Given the description of an element on the screen output the (x, y) to click on. 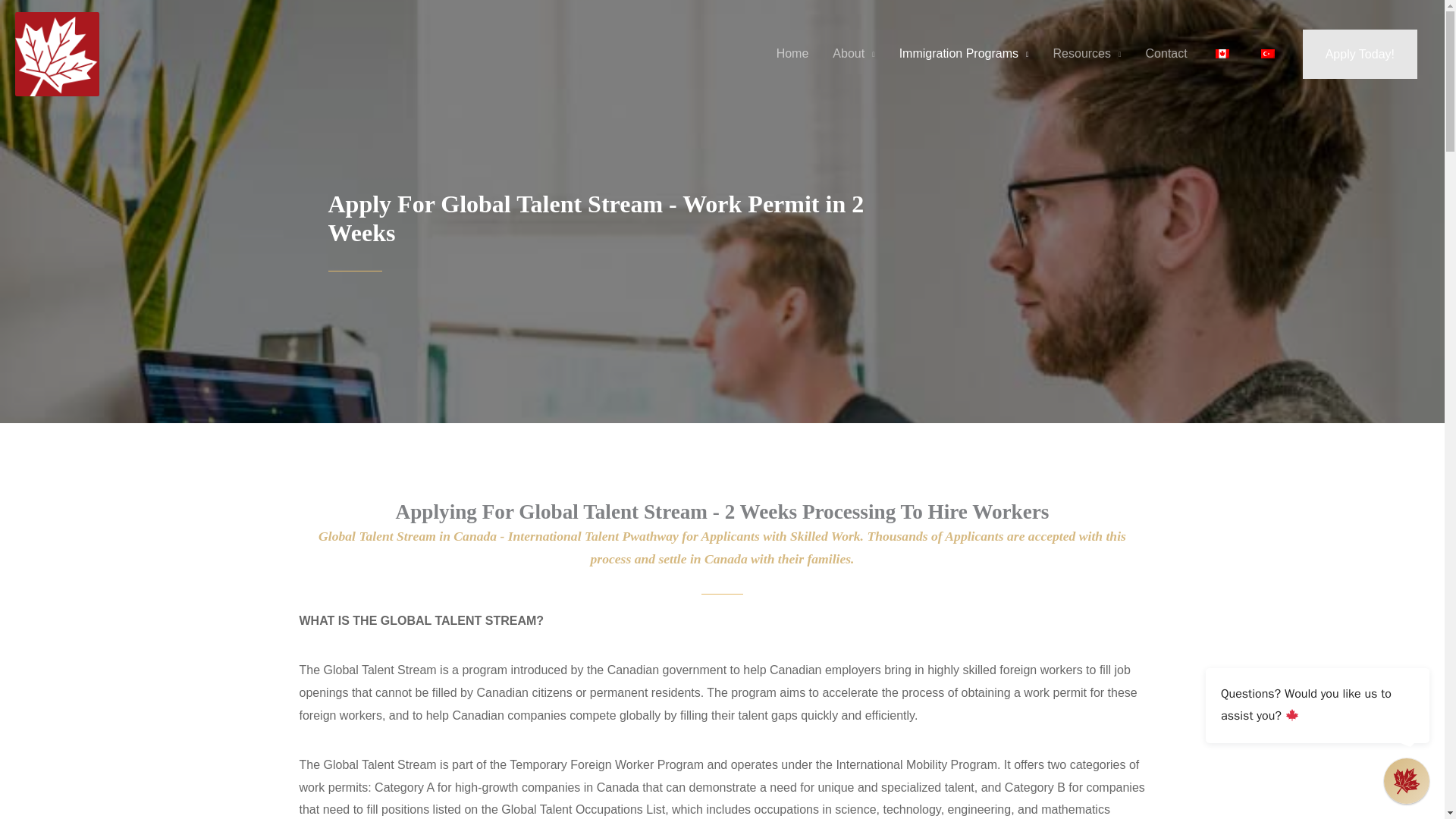
About (853, 54)
English (1221, 53)
Home (792, 54)
Immigration Programs (963, 54)
Turkish (1267, 53)
